Given the description of an element on the screen output the (x, y) to click on. 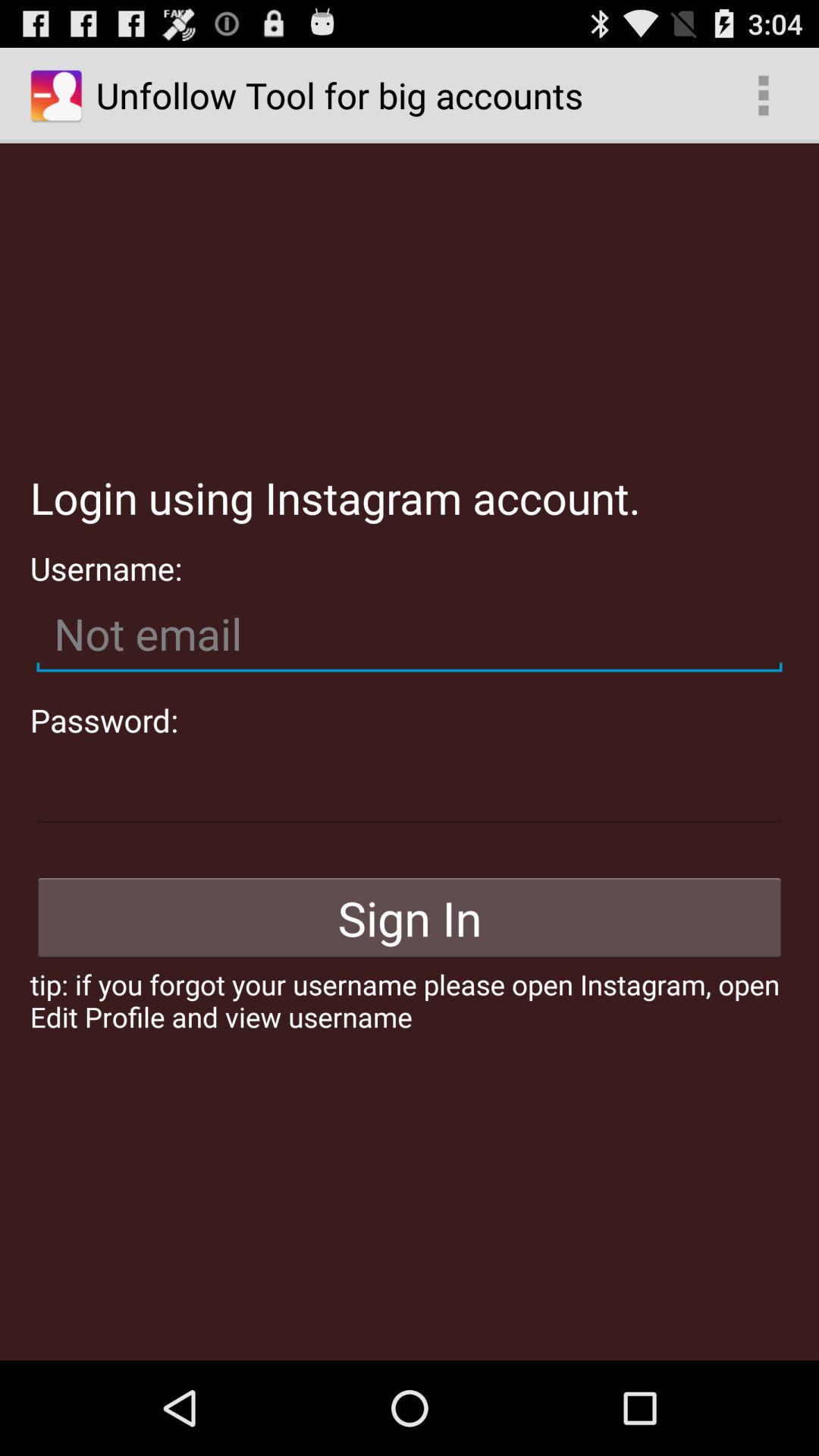
click app to the right of unfollow tool for item (763, 95)
